Given the description of an element on the screen output the (x, y) to click on. 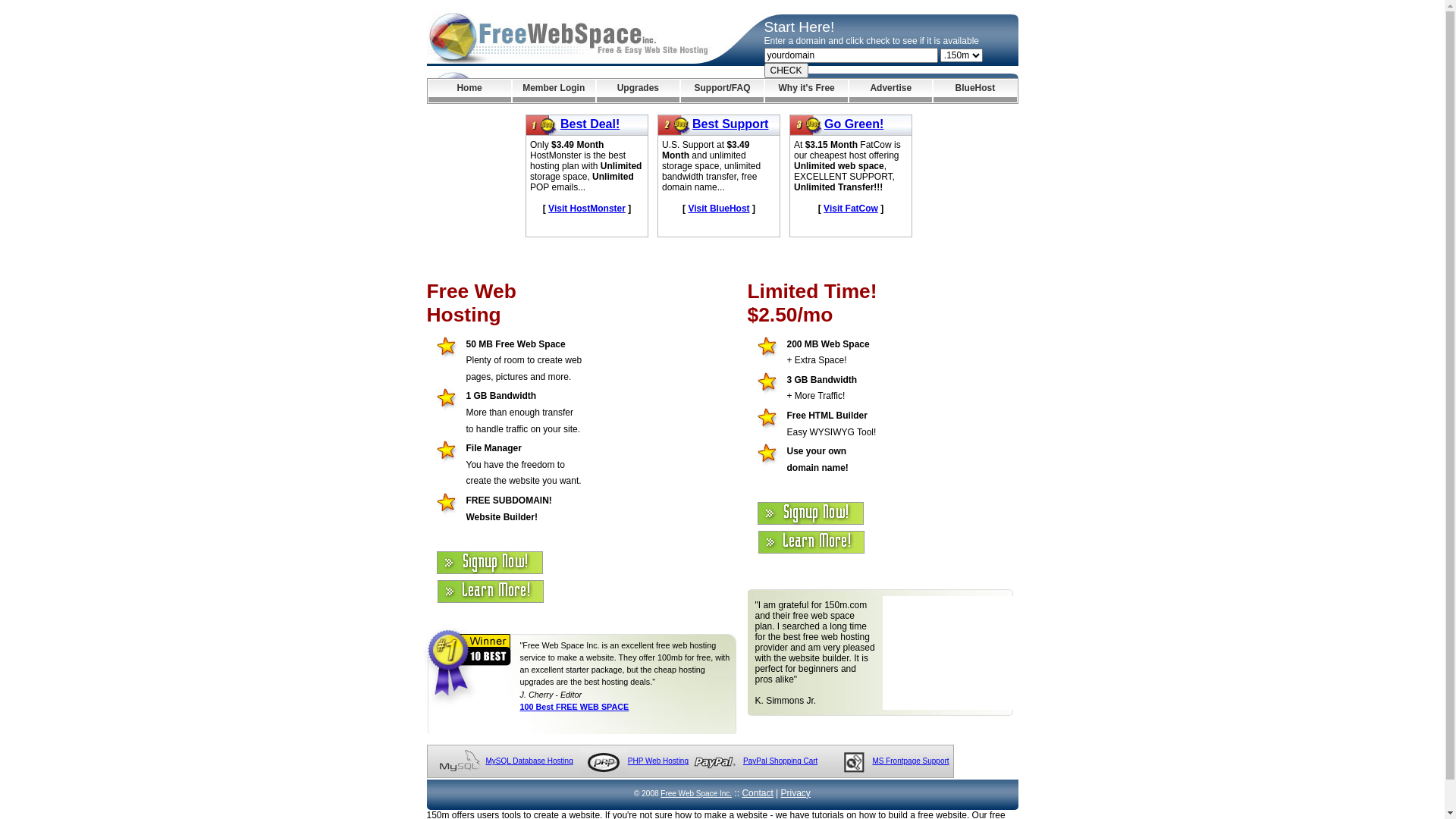
MS Frontpage Support Element type: text (910, 760)
Member Login Element type: text (553, 90)
Home Element type: text (468, 90)
Support/FAQ Element type: text (721, 90)
PayPal Shopping Cart Element type: text (780, 760)
Free Web Space Inc. Element type: text (695, 793)
Privacy Element type: text (795, 792)
MySQL Database Hosting Element type: text (528, 760)
Advertise Element type: text (890, 90)
PHP Web Hosting Element type: text (657, 760)
BlueHost Element type: text (974, 90)
100 Best FREE WEB SPACE Element type: text (574, 706)
Why it's Free Element type: text (806, 90)
Upgrades Element type: text (637, 90)
Contact Element type: text (756, 792)
CHECK Element type: text (786, 70)
